Given the description of an element on the screen output the (x, y) to click on. 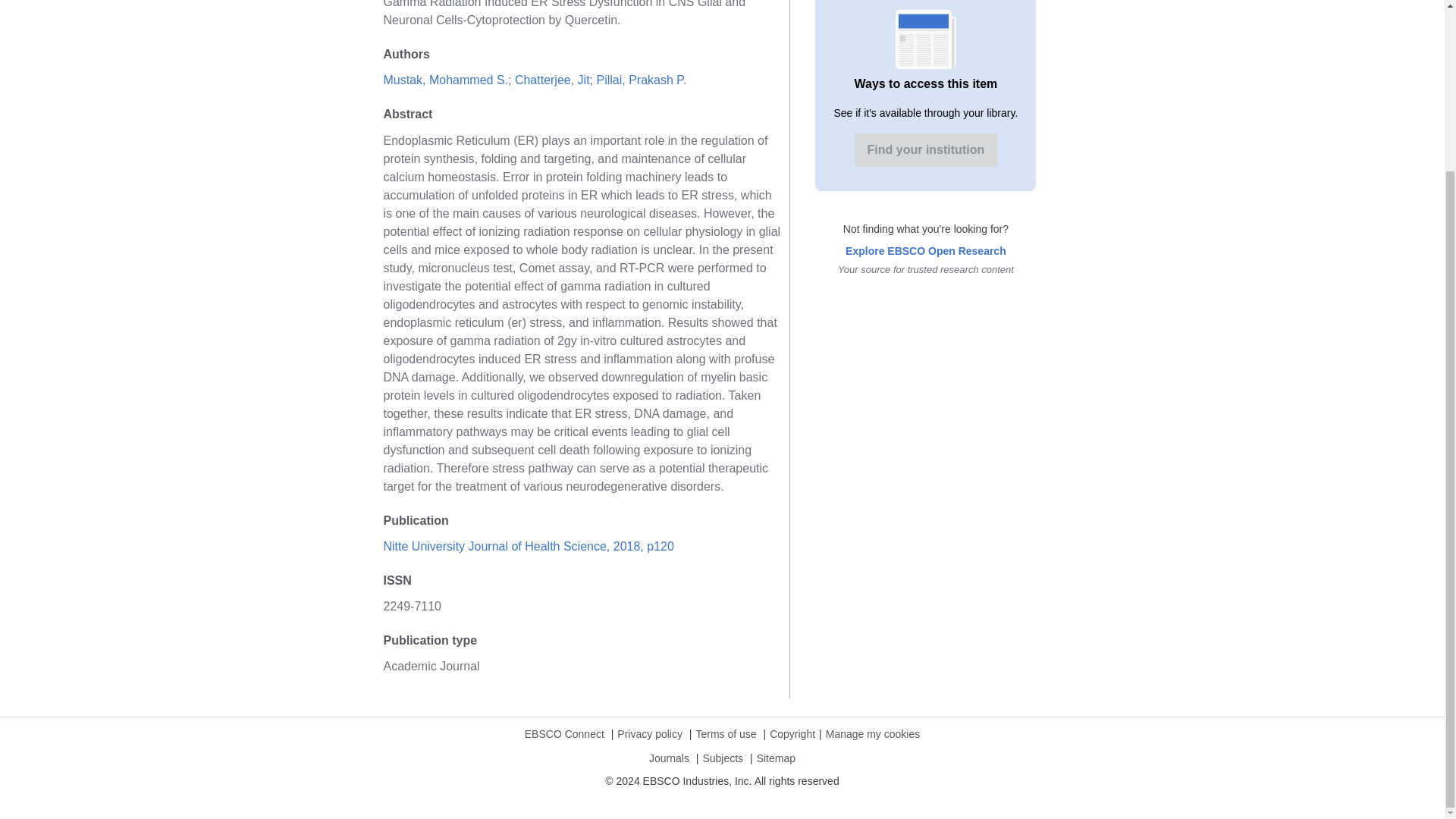
EBSCO Connect (564, 740)
Copyright (792, 740)
Chatterjee, Jit (552, 79)
Find your institution (925, 150)
Privacy policy (649, 740)
Journals (668, 764)
Pillai, Prakash P. (640, 79)
Subjects (721, 764)
Mustak, Mohammed S. (446, 79)
Explore EBSCO Open Research (925, 250)
